Given the description of an element on the screen output the (x, y) to click on. 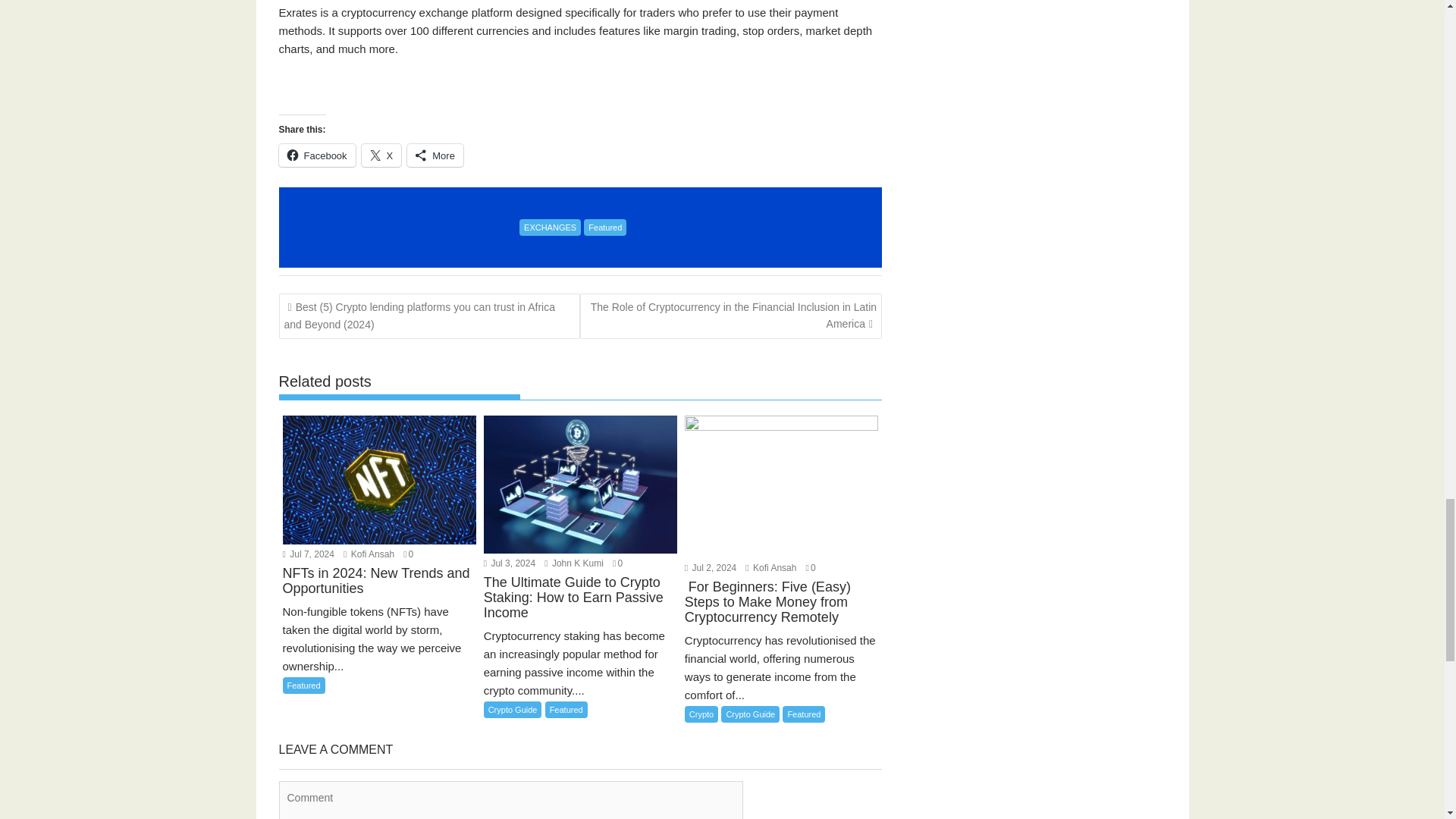
Click to share on X (381, 155)
Click to share on Facebook (317, 155)
